Given the description of an element on the screen output the (x, y) to click on. 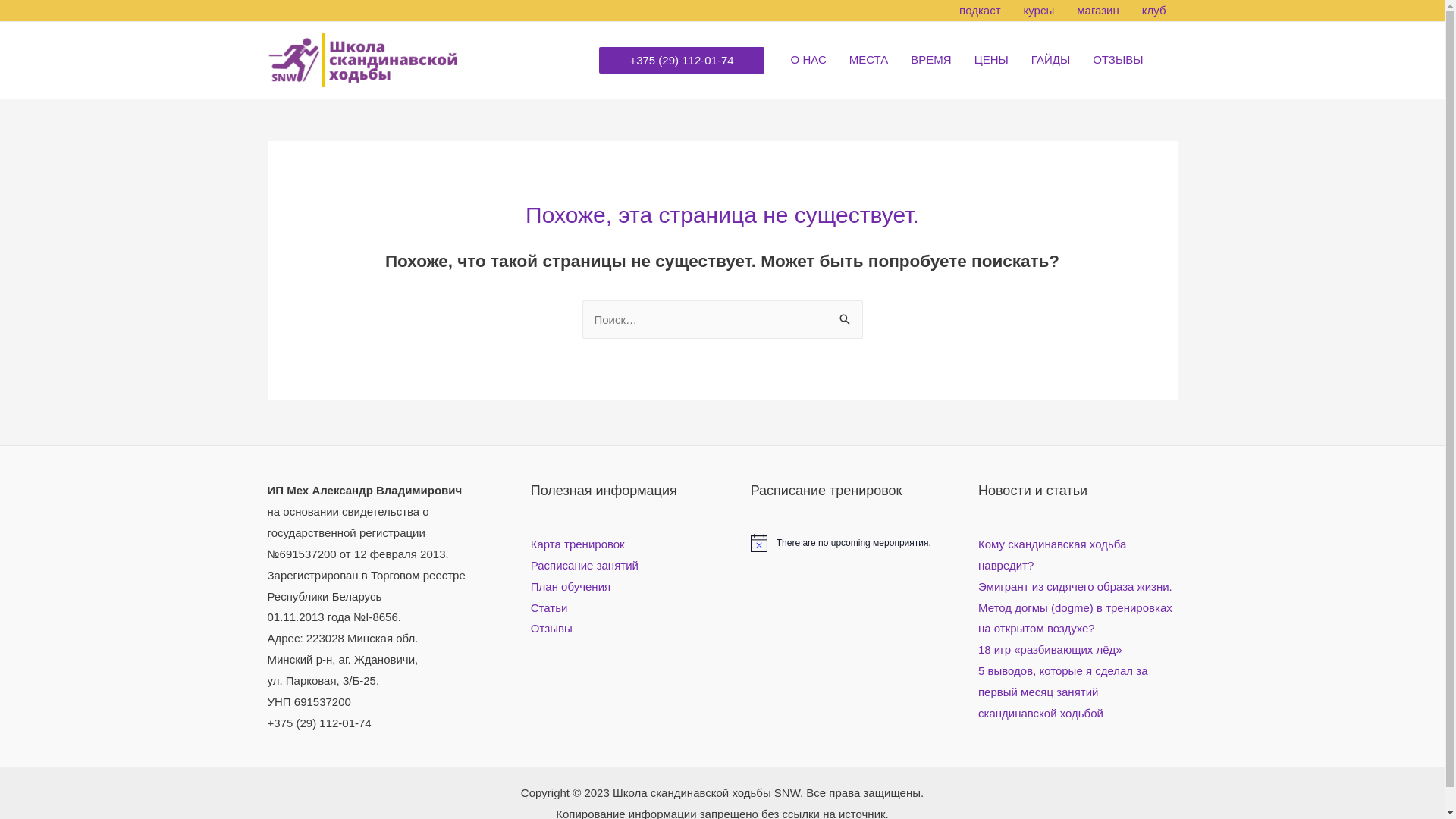
+375 (29) 112-01-74 Element type: text (681, 60)
